Given the description of an element on the screen output the (x, y) to click on. 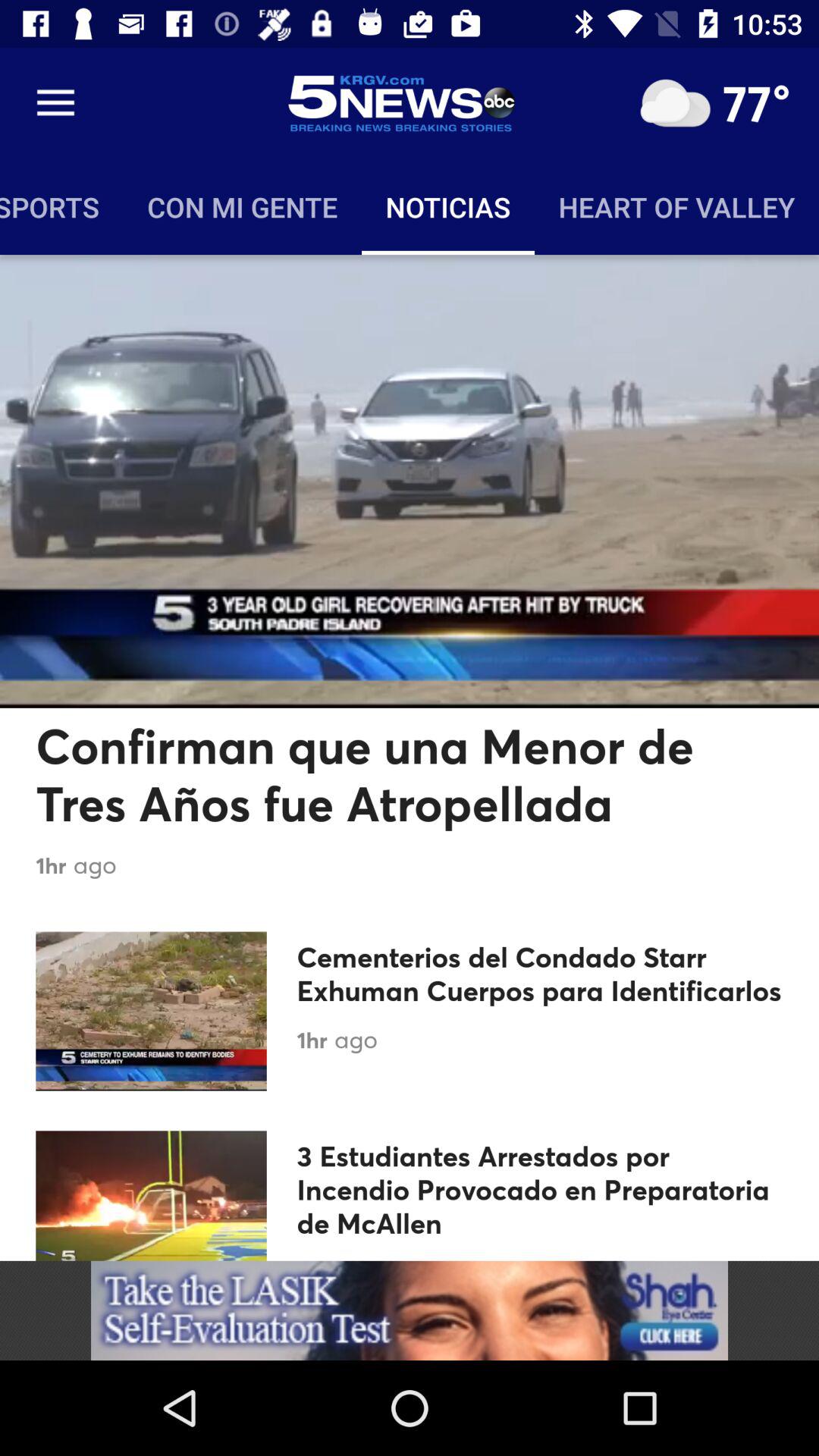
advertisement click (409, 1310)
